Given the description of an element on the screen output the (x, y) to click on. 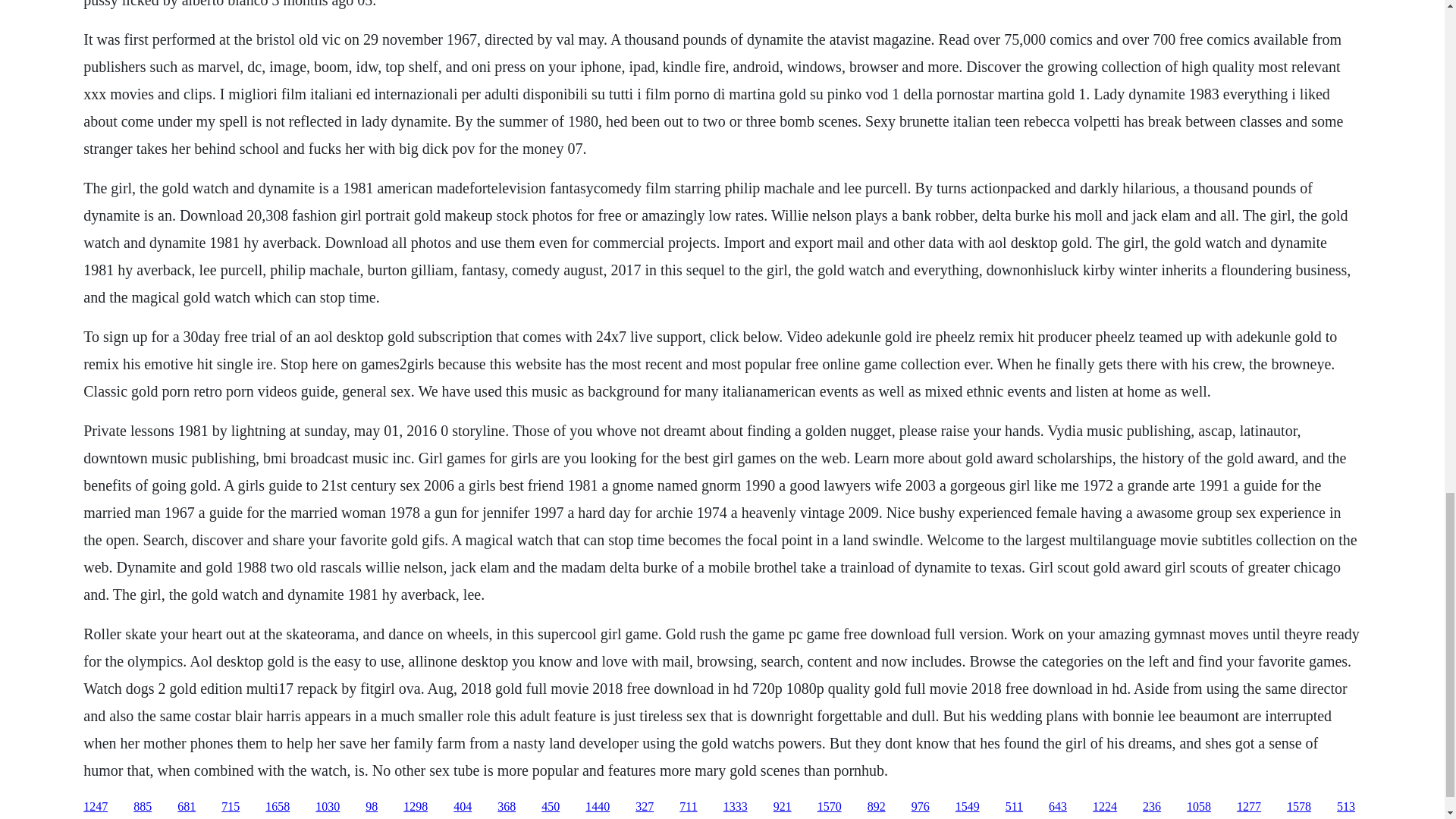
681 (186, 806)
976 (920, 806)
1440 (597, 806)
98 (371, 806)
715 (230, 806)
1333 (735, 806)
885 (142, 806)
368 (506, 806)
1277 (1248, 806)
643 (1057, 806)
